Given the description of an element on the screen output the (x, y) to click on. 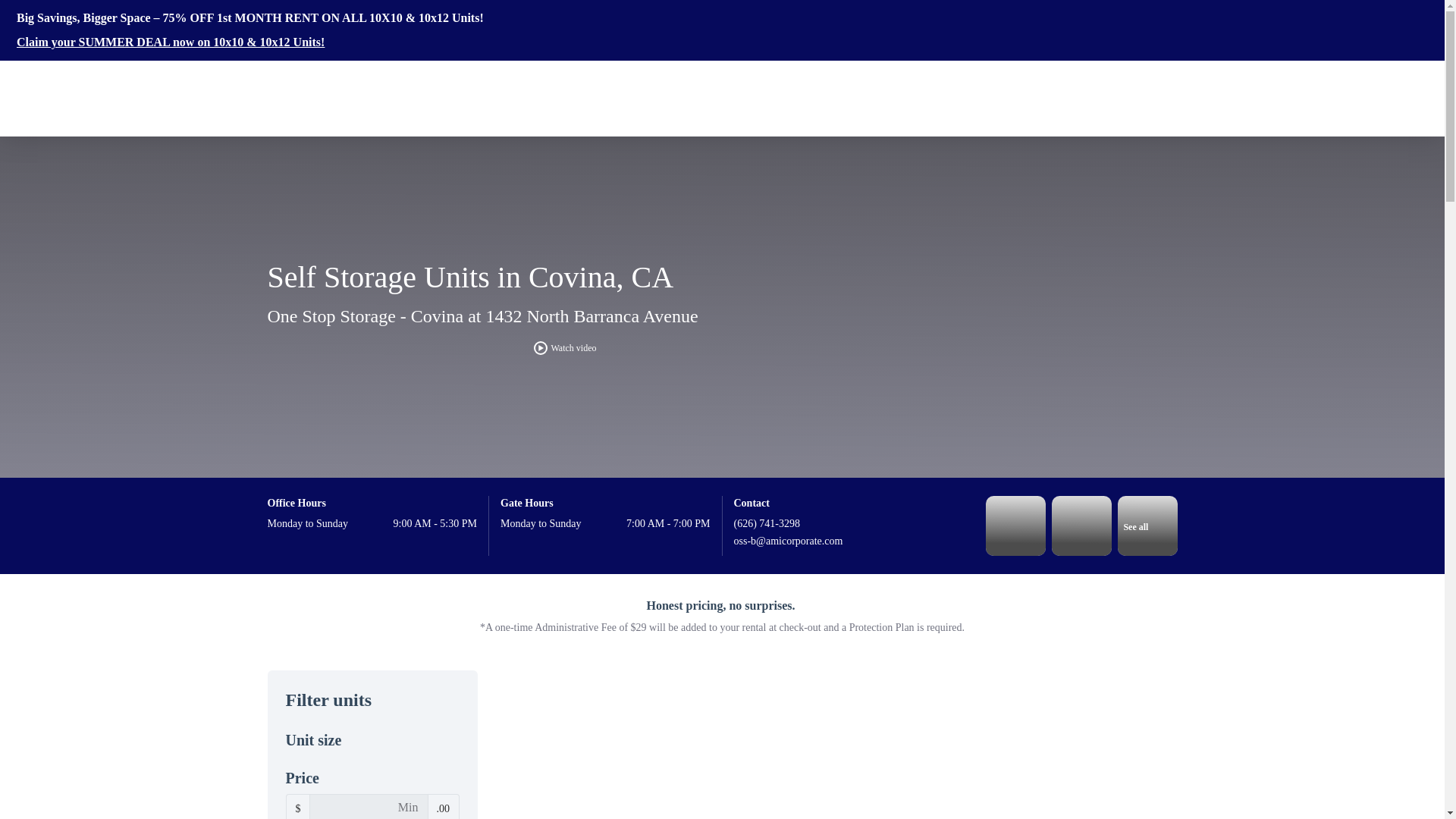
Play IconPlay Icon Svg Image (540, 346)
